Given the description of an element on the screen output the (x, y) to click on. 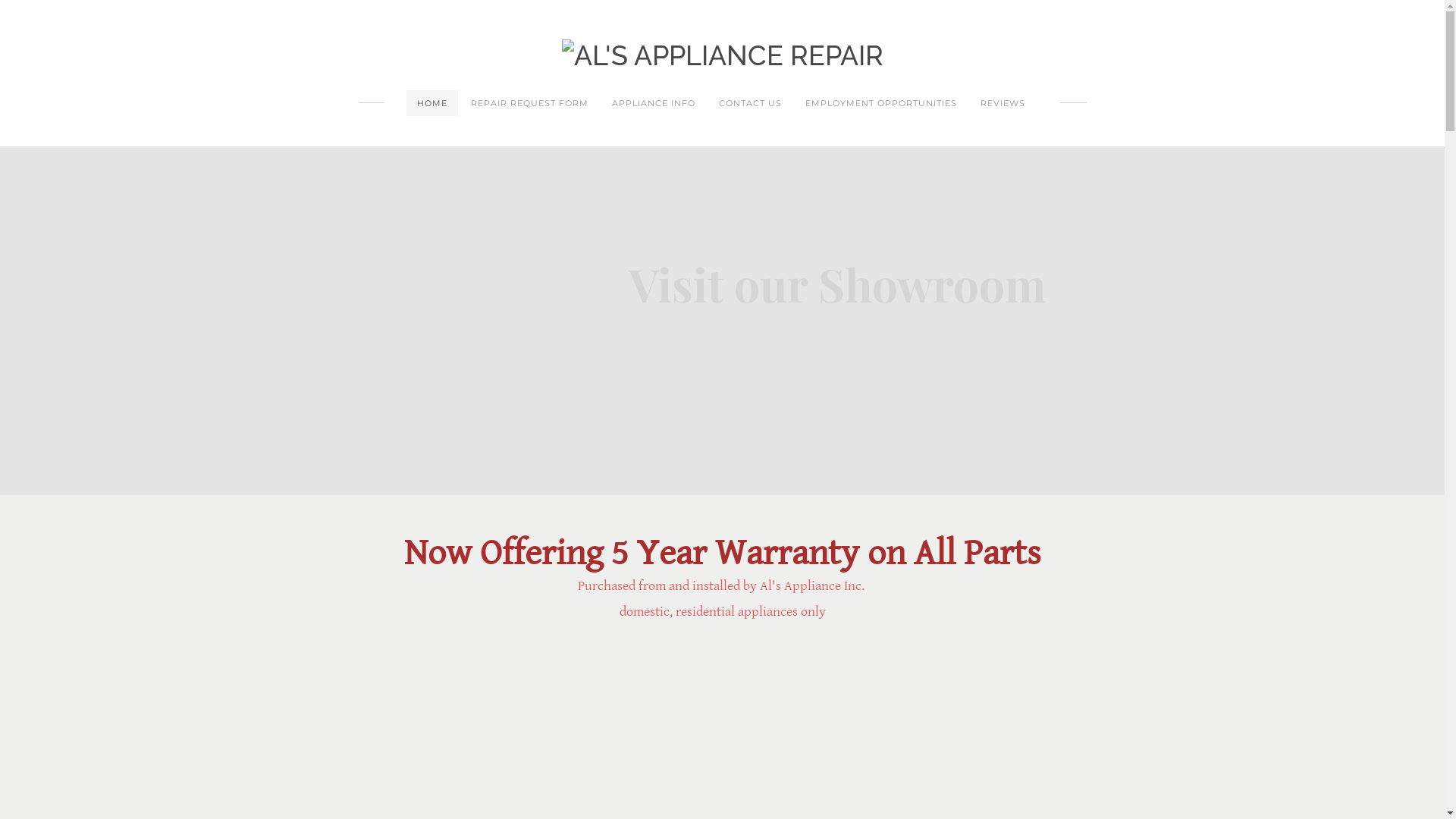
APPLIANCE INFO Element type: text (653, 103)
HOME Element type: text (432, 103)
REPAIR REQUEST FORM Element type: text (529, 103)
REVIEWS Element type: text (1002, 103)
EMPLOYMENT OPPORTUNITIES Element type: text (880, 103)
CONTACT US Element type: text (750, 103)
